Given the description of an element on the screen output the (x, y) to click on. 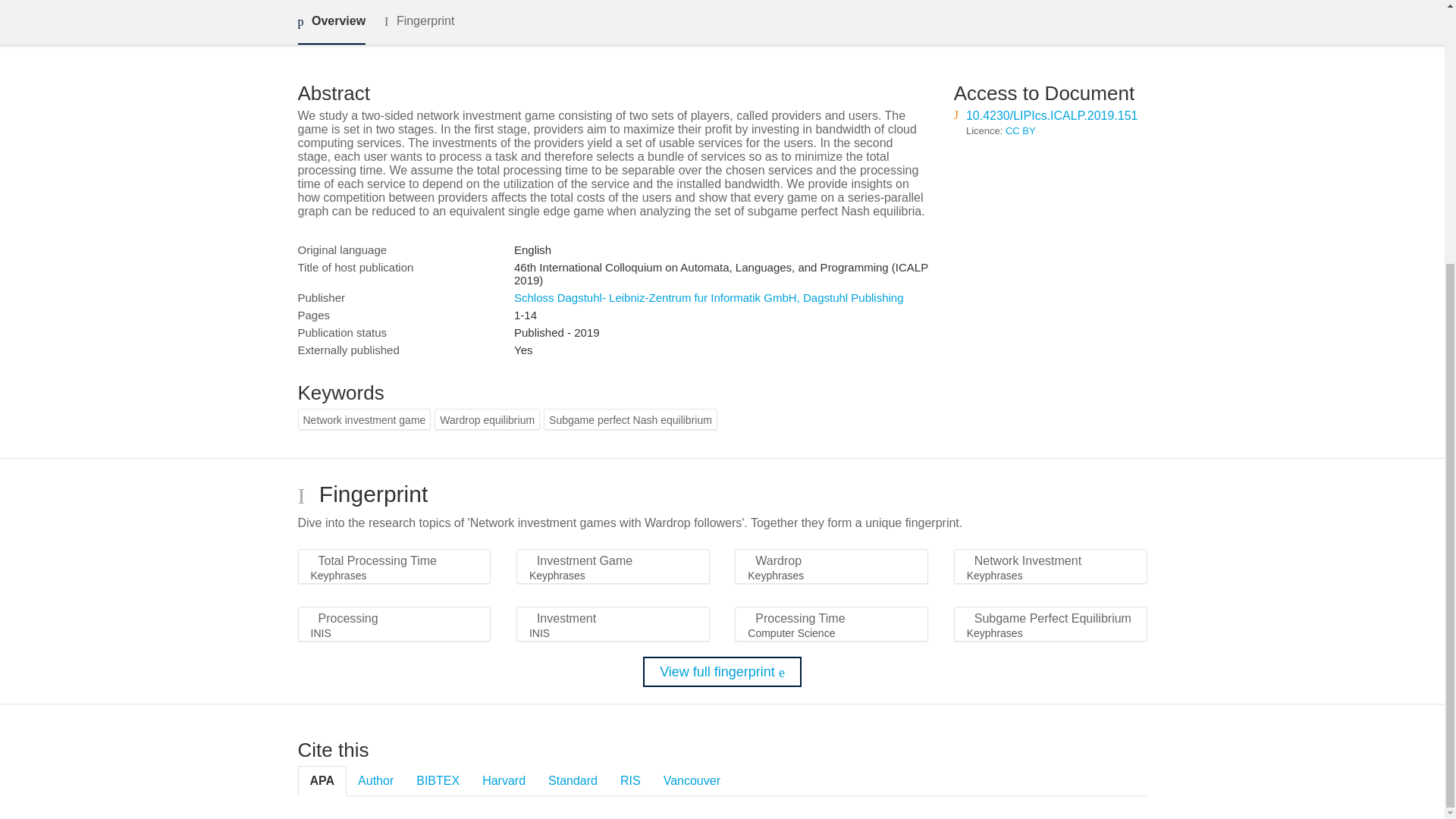
Fingerprint (419, 21)
View full fingerprint (722, 671)
Overview (331, 22)
CC BY (1020, 130)
